Given the description of an element on the screen output the (x, y) to click on. 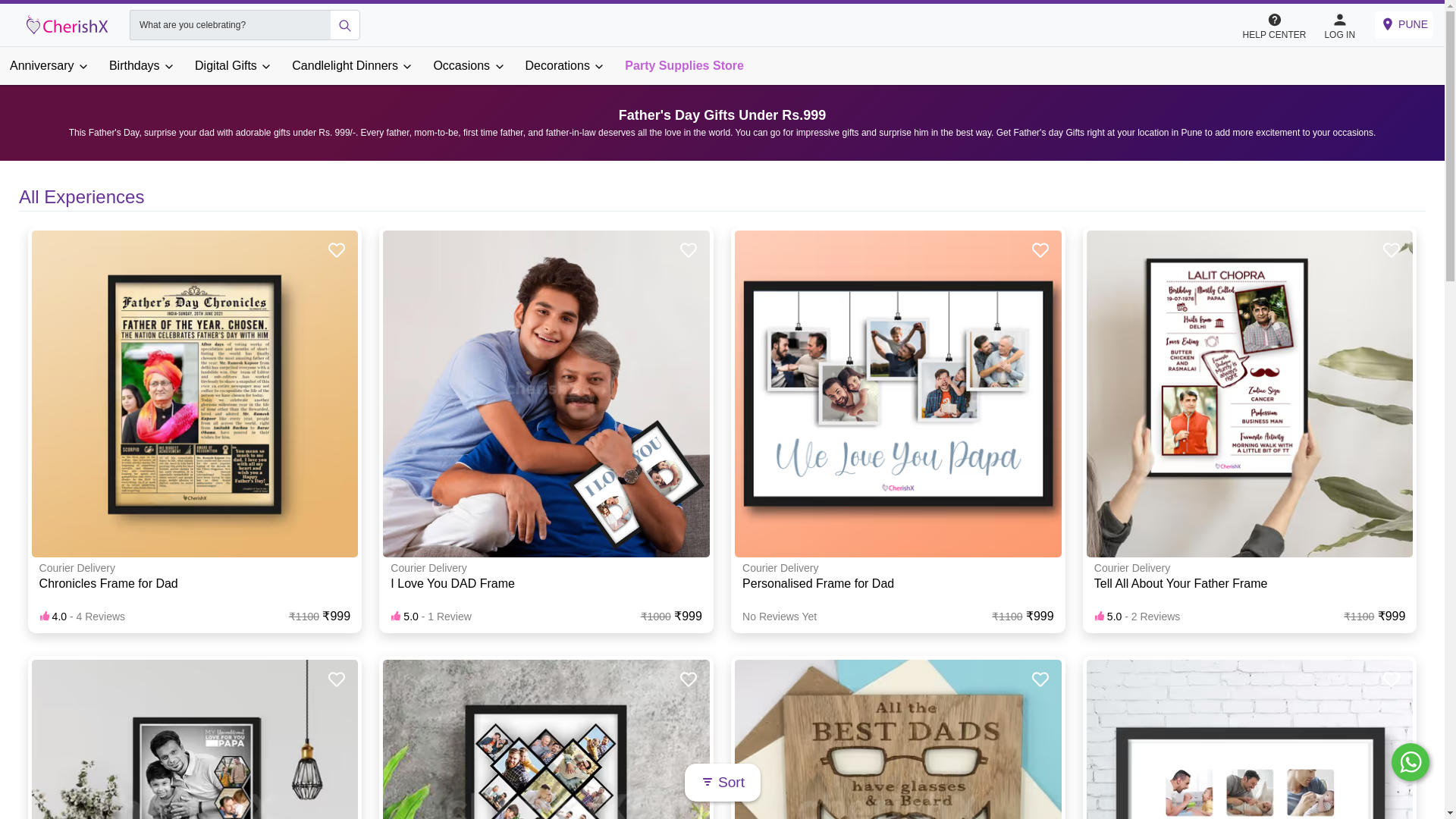
PUNE (1403, 24)
HELP CENTER (1282, 25)
What are you celebrating? (229, 24)
HELP CENTER (1274, 24)
LOG IN (1339, 24)
What are you celebrating? (229, 24)
